Given the description of an element on the screen output the (x, y) to click on. 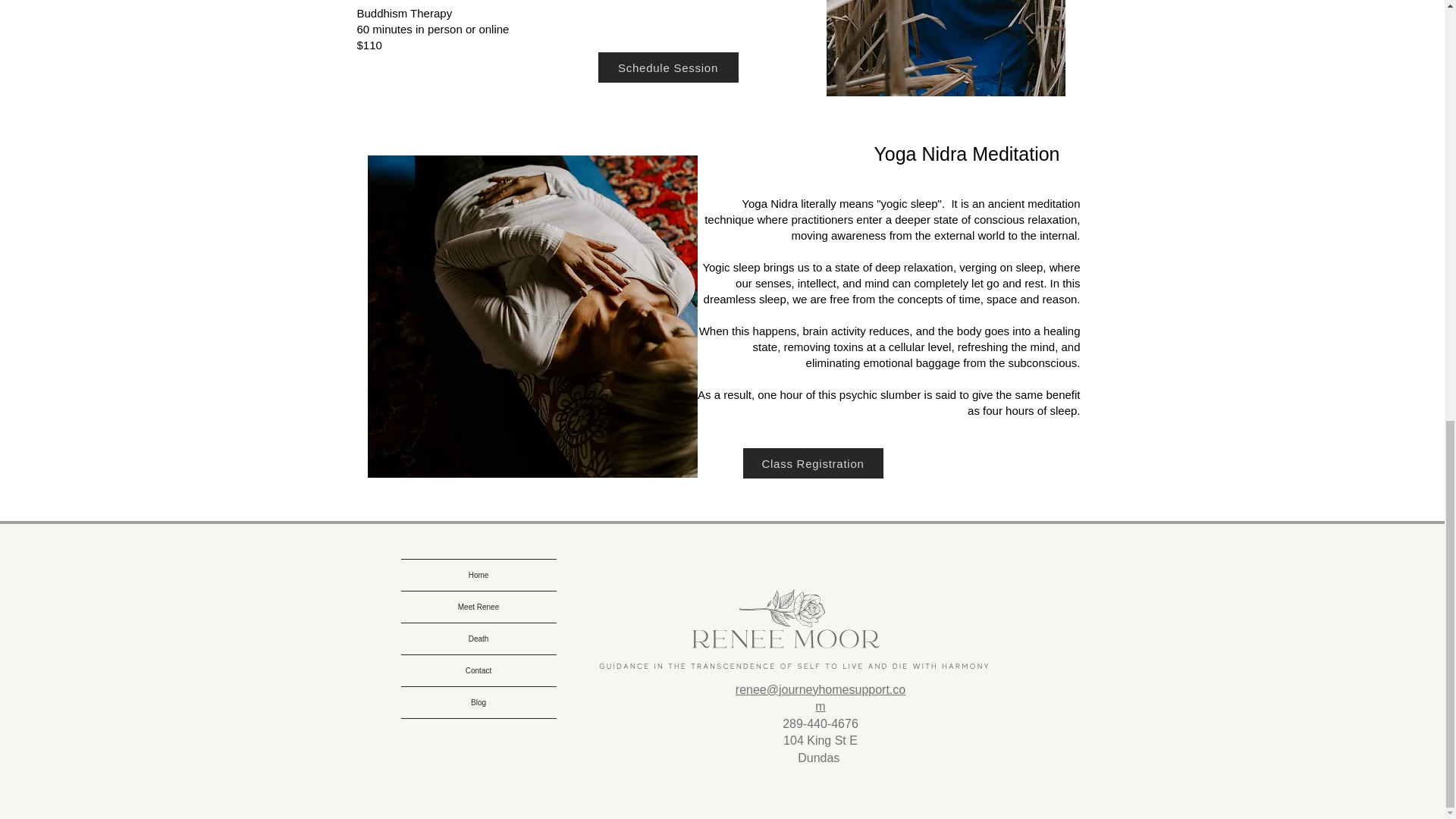
Contact (478, 670)
Blog (478, 702)
Death (478, 638)
Class Registration (812, 462)
289-440-4676 (821, 723)
Schedule Session (667, 67)
Home (478, 574)
Meet Renee (478, 606)
